Given the description of an element on the screen output the (x, y) to click on. 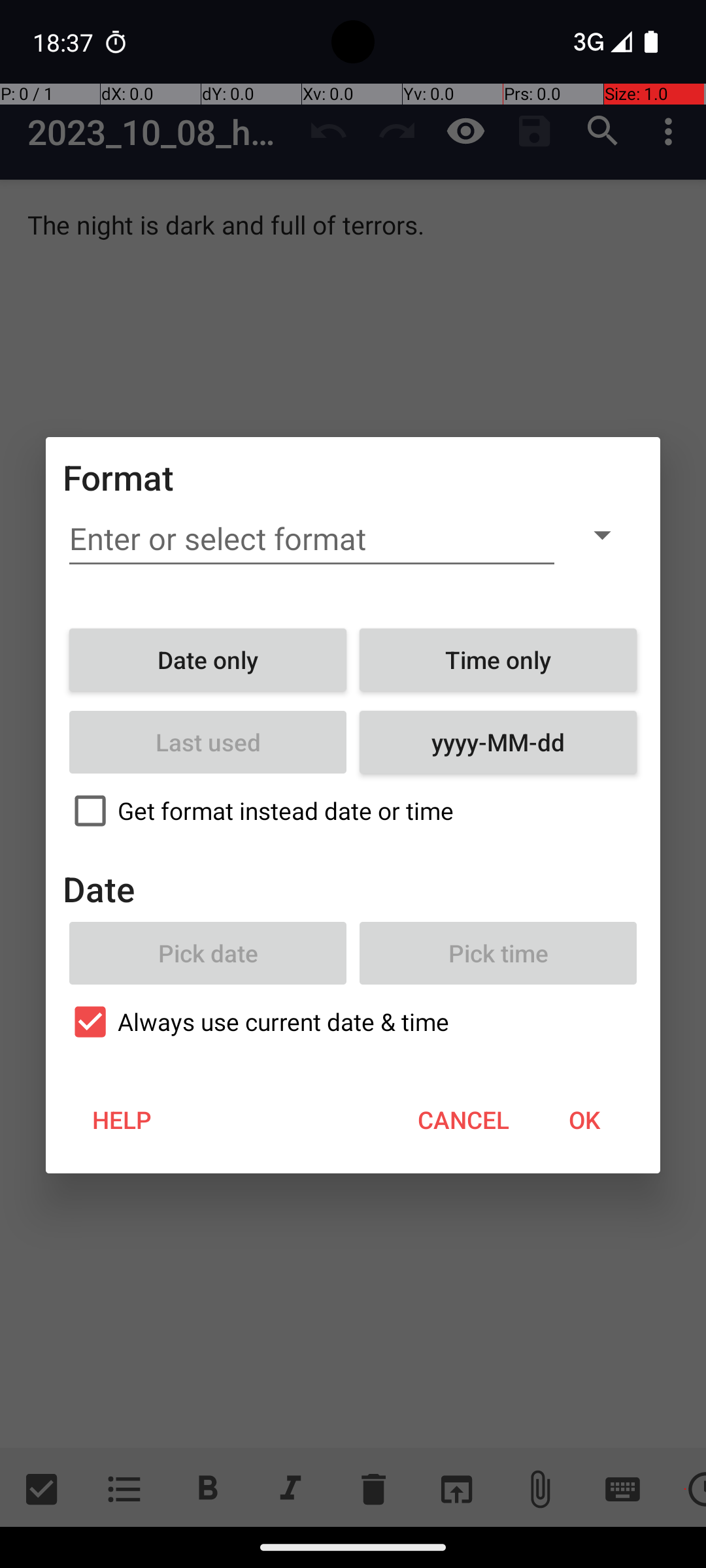
18:37 Element type: android.widget.TextView (64, 41)
